Given the description of an element on the screen output the (x, y) to click on. 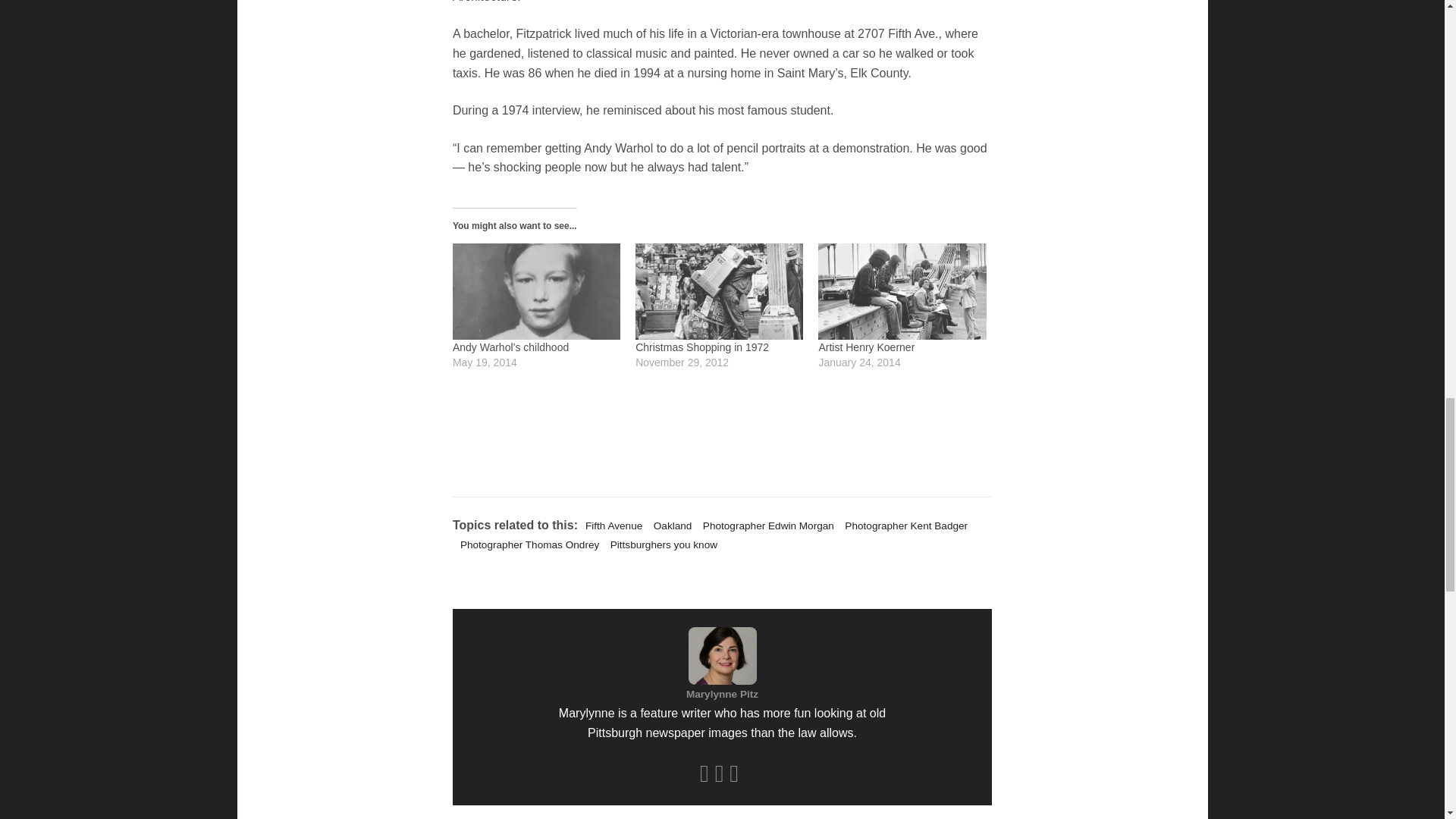
Artist Henry Koerner (866, 346)
Photographer Edwin Morgan (764, 525)
Artist Henry Koerner (866, 346)
View all posts tagged Fifth Avenue (610, 525)
Artist Henry Koerner (901, 291)
3rd party ad content (721, 432)
View all posts tagged Photographer Kent Badger (902, 525)
Oakland (669, 525)
Pittsburghers you know (659, 544)
View all posts tagged Oakland (669, 525)
Christmas Shopping in 1972 (701, 346)
Christmas Shopping in 1972 (701, 346)
Photographer Thomas Ondrey (525, 544)
Fifth Avenue (610, 525)
Marylynne Pitz (721, 693)
